Given the description of an element on the screen output the (x, y) to click on. 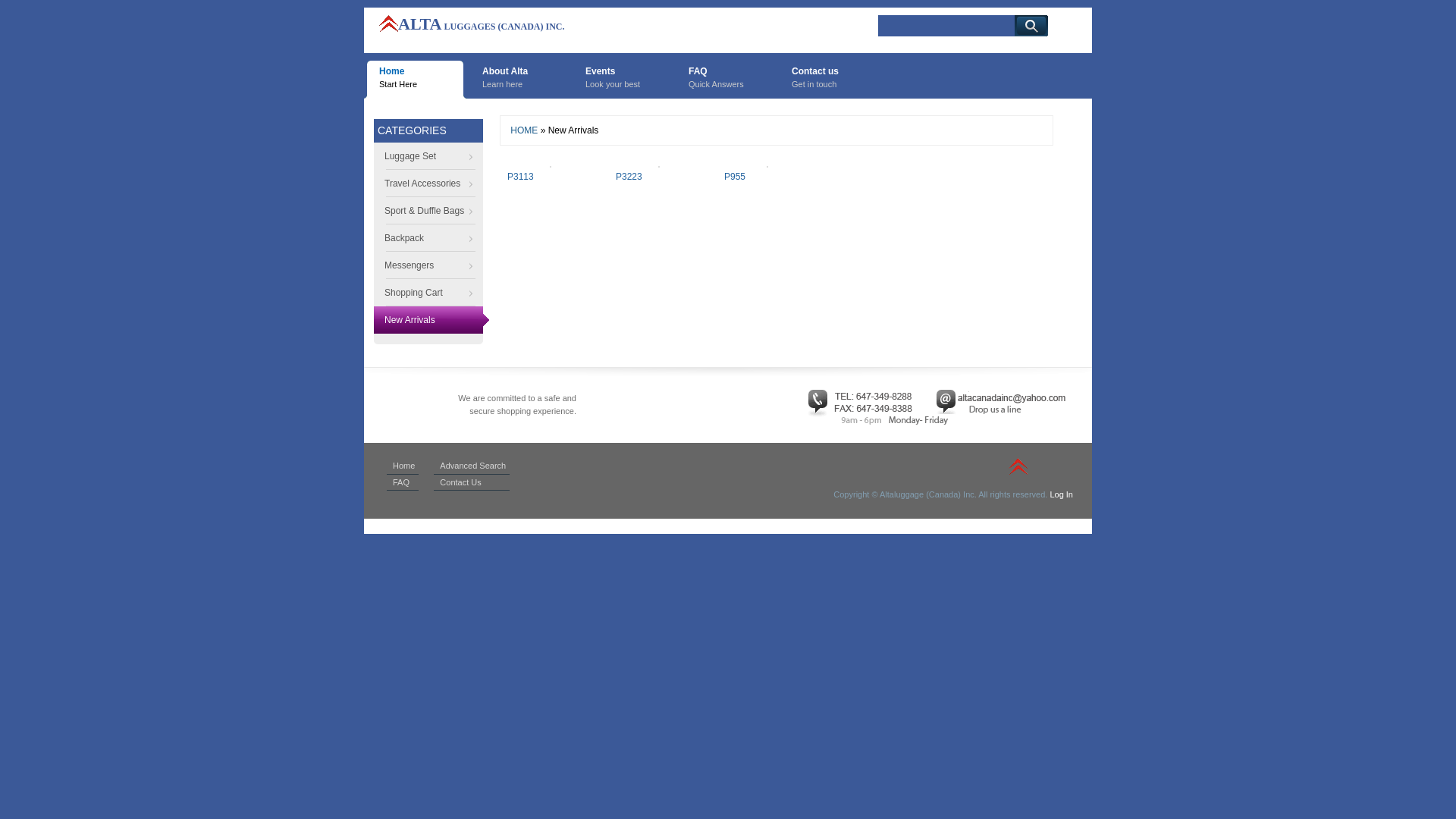
ALTA LUGGAGES (CANADA) INC. Element type: text (471, 26)
About Alta
Learn here Element type: text (518, 79)
New Arrivals Element type: text (431, 319)
Luggage Set Element type: text (431, 155)
FAQ Element type: text (400, 481)
P3223 Element type: text (628, 176)
Advanced Search Element type: text (472, 465)
Log In Element type: text (1061, 493)
Messengers Element type: text (431, 265)
P3113 Element type: text (520, 176)
Home
Start Here Element type: text (415, 79)
P955 Element type: text (734, 176)
FAQ
Quick Answers Element type: text (724, 79)
Sport & Duffle Bags Element type: text (431, 210)
Contact us
Get in touch Element type: text (827, 79)
Travel Accessories Element type: text (431, 183)
Events
Look your best Element type: text (621, 79)
 HOME Element type: text (522, 130)
Contact Us Element type: text (459, 481)
Search Element type: hover (1031, 25)
Home Element type: text (403, 465)
Shopping Cart Element type: text (431, 292)
Backpack Element type: text (431, 237)
